Given the description of an element on the screen output the (x, y) to click on. 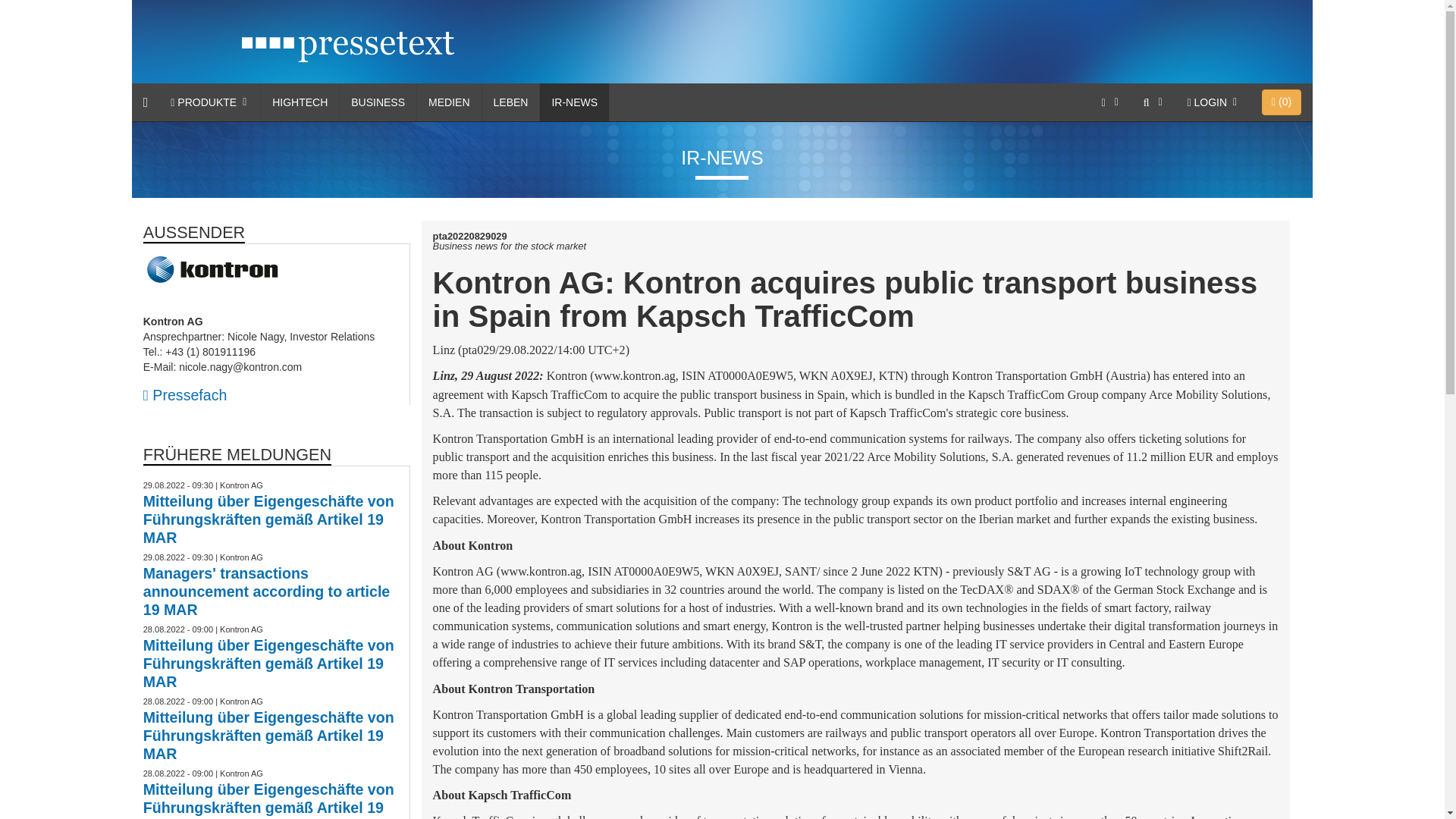
PRODUKTE (209, 102)
